Given the description of an element on the screen output the (x, y) to click on. 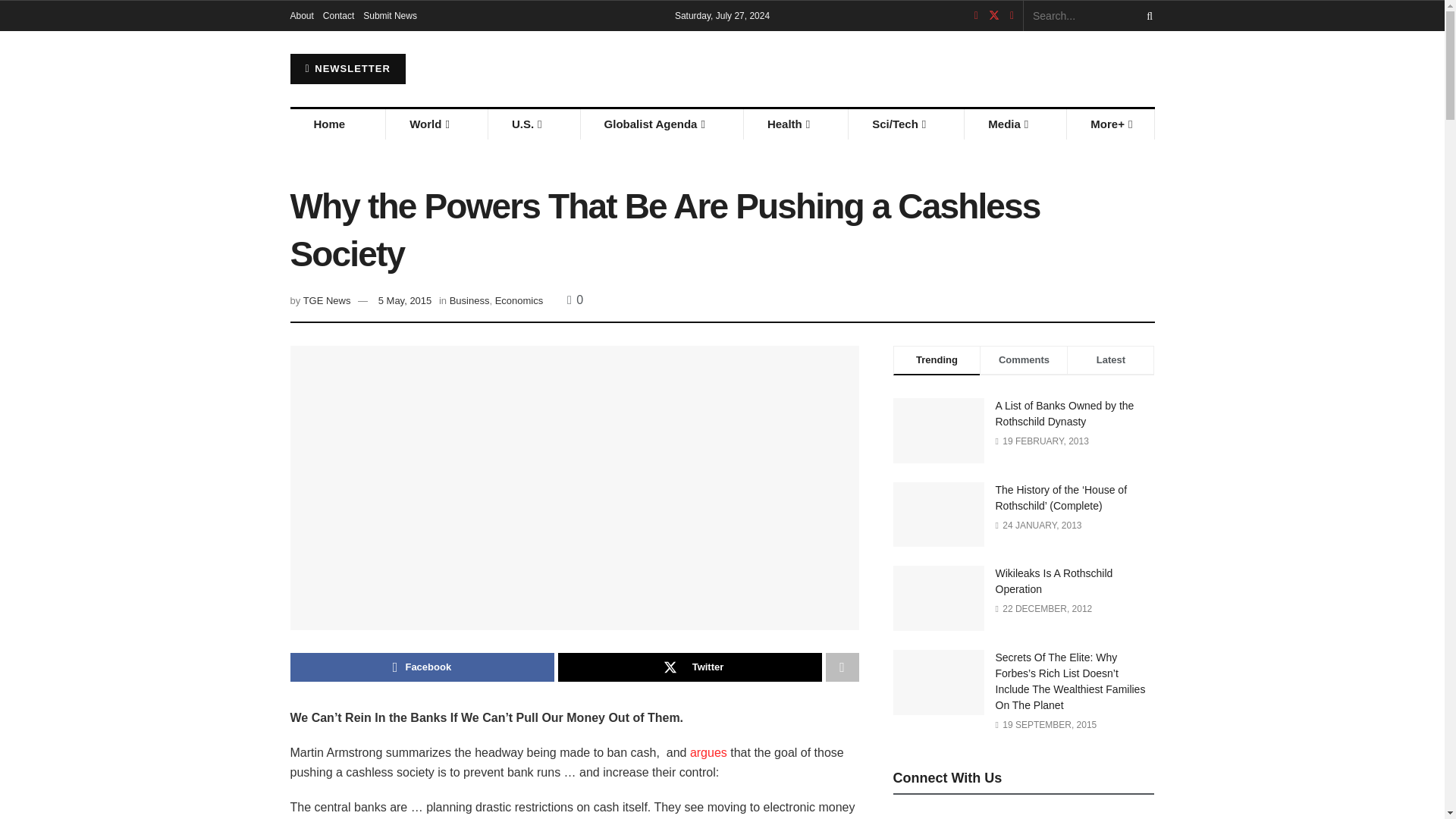
Media (1006, 123)
Submit News (389, 15)
Health (787, 123)
argues (708, 752)
Contact (338, 15)
U.S. (525, 123)
About (301, 15)
Home (328, 123)
Globalist Agenda (653, 123)
NEWSLETTER (346, 69)
World (427, 123)
